Given the description of an element on the screen output the (x, y) to click on. 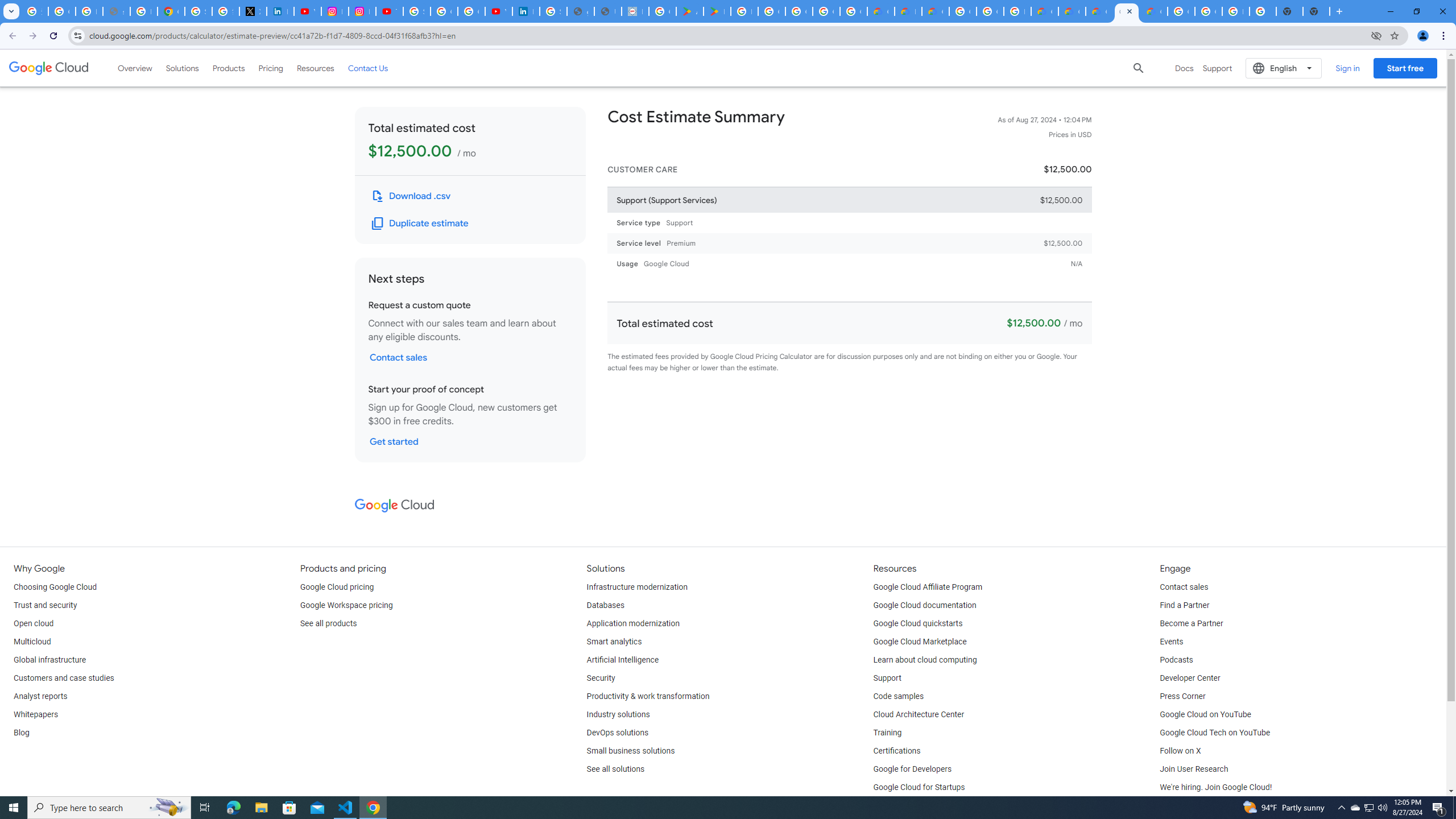
Google Cloud Service Health (1153, 11)
Join User Research (1193, 769)
X (253, 11)
Sign in - Google Accounts (197, 11)
Trust and security (45, 605)
Code samples (898, 696)
Docs (1183, 67)
Google Cloud Affiliate Program (927, 587)
